Given the description of an element on the screen output the (x, y) to click on. 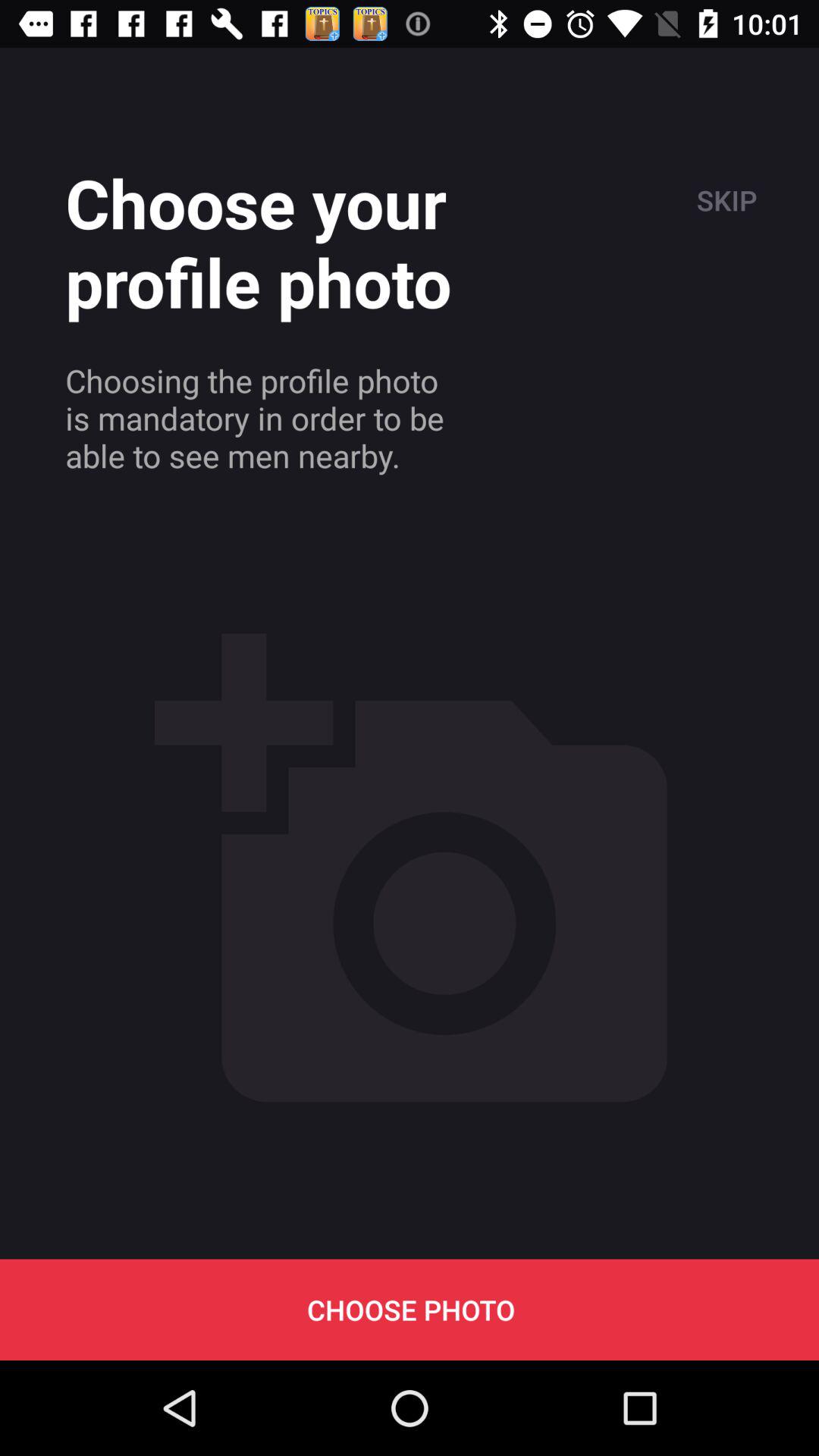
turn off item to the right of the choose your profile item (725, 199)
